Given the description of an element on the screen output the (x, y) to click on. 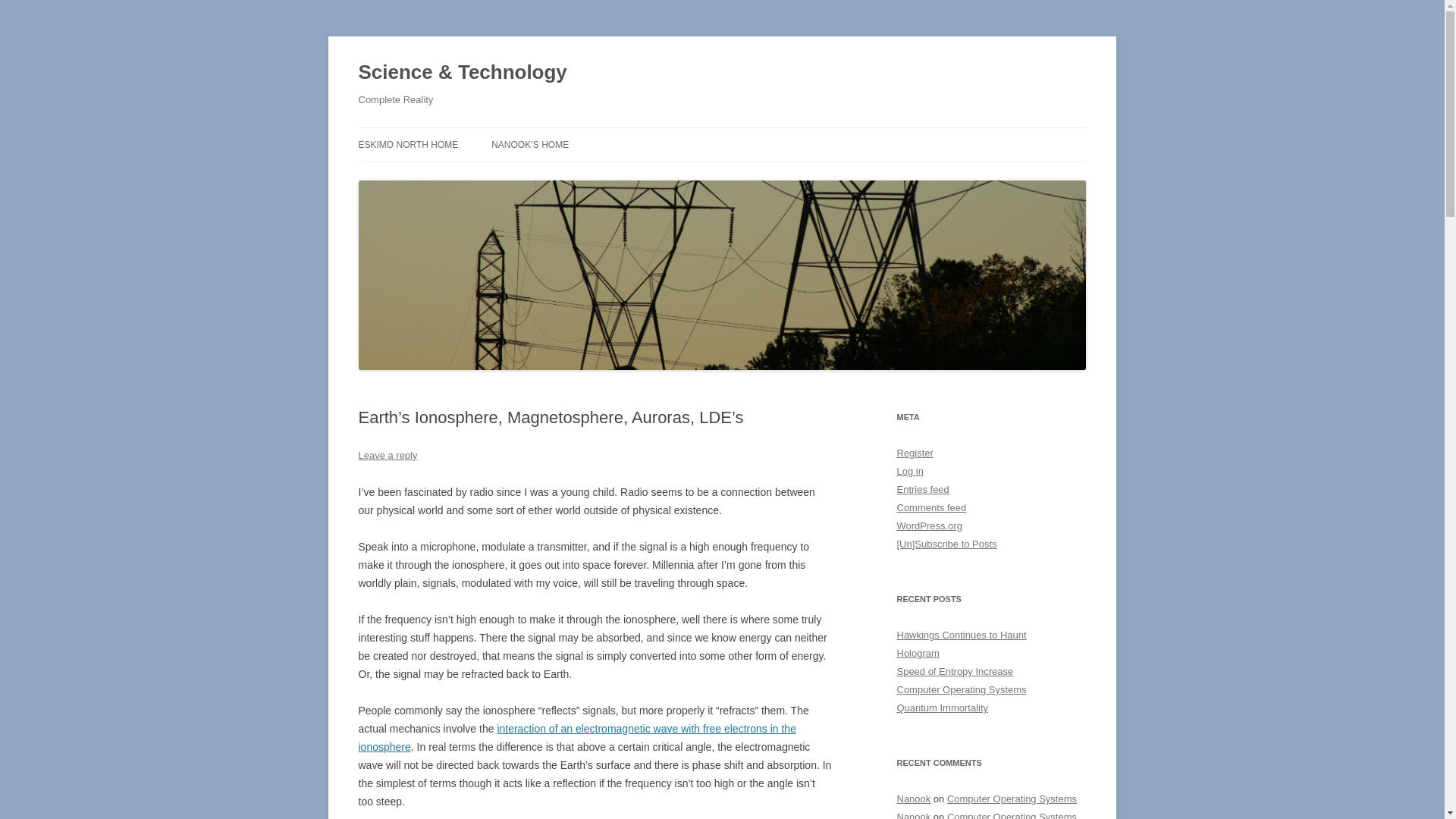
Home Web Page (530, 144)
Where this blog is hosted. (408, 144)
Leave a reply (387, 455)
ESKIMO NORTH FORUM (433, 176)
ESKIMO NORTH HOME (408, 144)
